Given the description of an element on the screen output the (x, y) to click on. 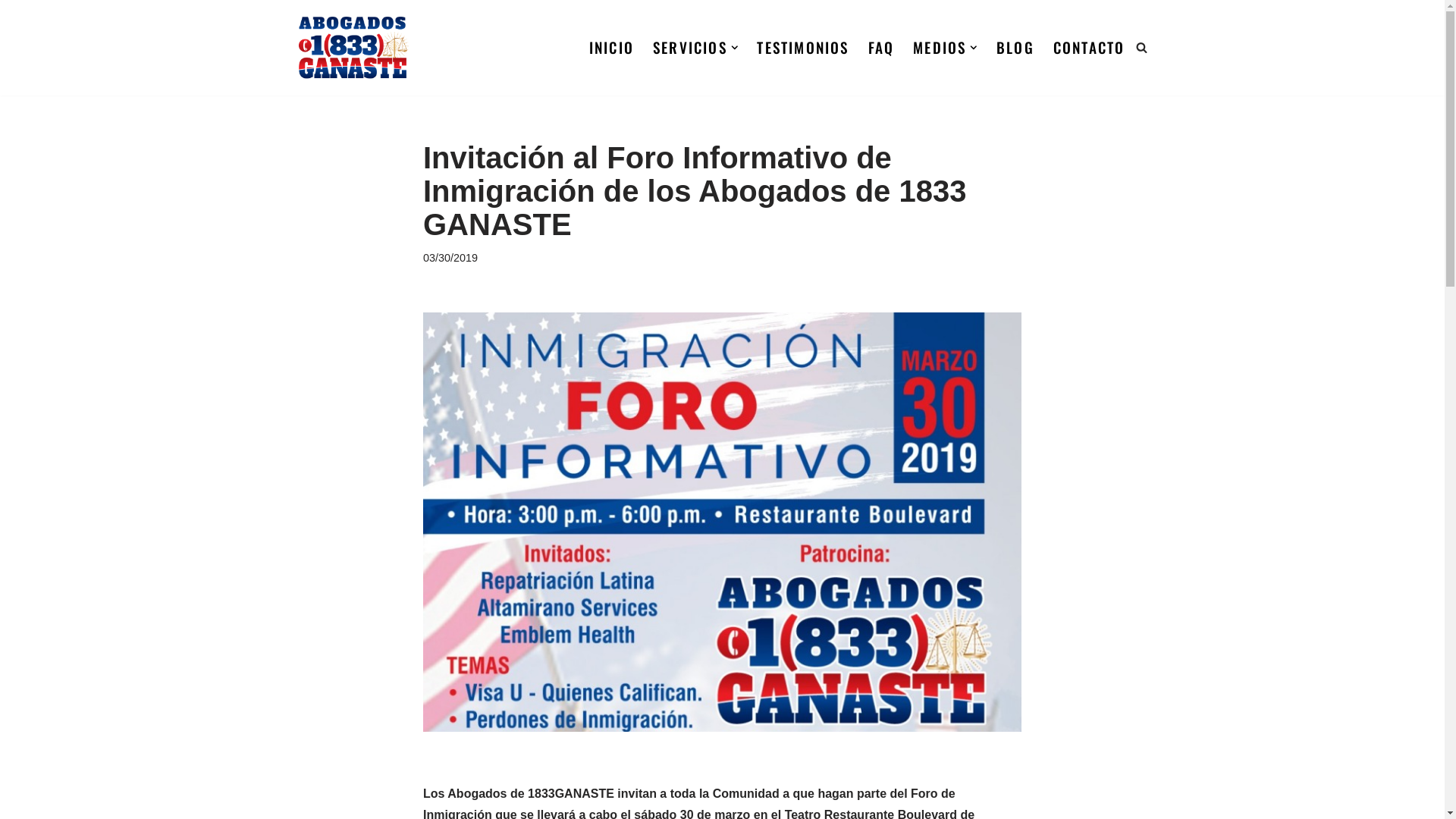
Saltar al contenido Element type: text (11, 31)
CONTACTO Element type: text (1089, 47)
MEDIOS Element type: text (939, 47)
INICIO Element type: text (611, 47)
SERVICIOS Element type: text (689, 47)
FAQ Element type: text (881, 47)
1833GANASTE Element type: hover (351, 47)
BLOG Element type: text (1015, 47)
TESTIMONIOS Element type: text (802, 47)
